Given the description of an element on the screen output the (x, y) to click on. 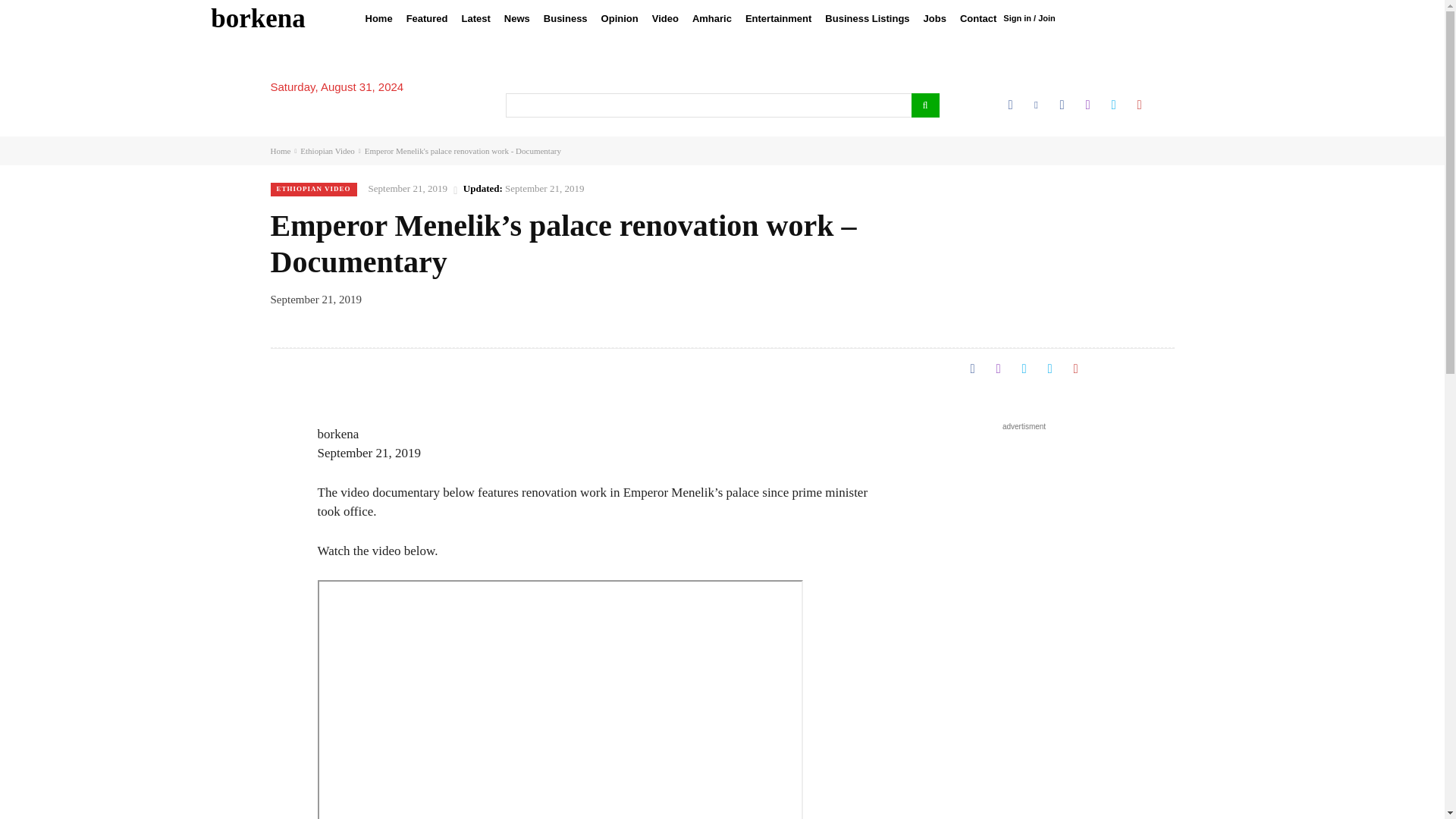
News (517, 18)
Contact (978, 18)
Ethiopian News and Opinion  (257, 18)
Jobs (935, 18)
borkena (257, 18)
Business (565, 18)
Video (665, 18)
Featured (426, 18)
Business Listings (866, 18)
Entertainment (778, 18)
